Given the description of an element on the screen output the (x, y) to click on. 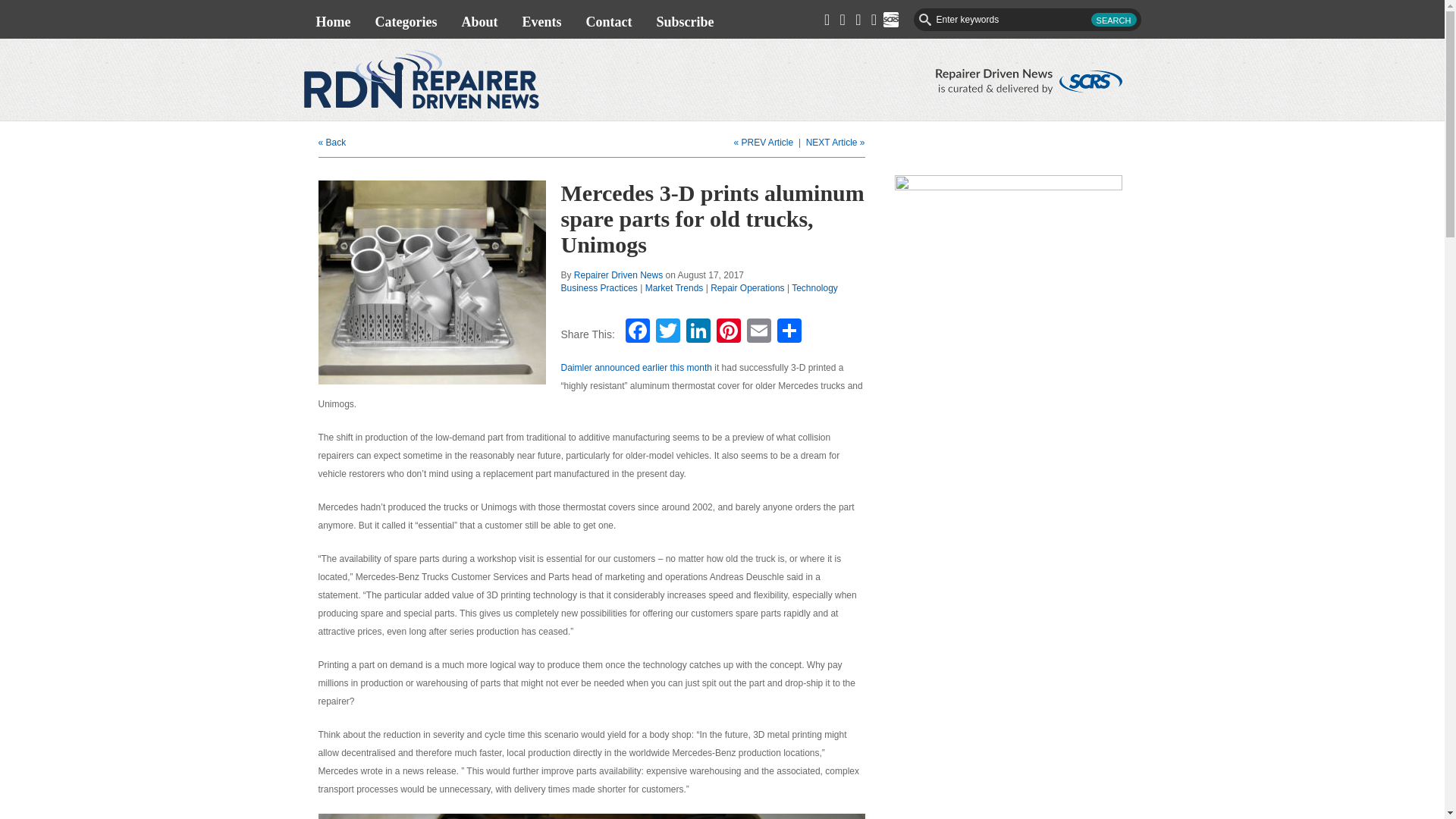
Contact (608, 21)
Twitter (667, 332)
Email (759, 332)
Events (541, 21)
Subscribe (684, 21)
Categories (405, 21)
Enter keywords (1026, 19)
Search (1112, 19)
Facebook (637, 332)
Enter keywords (1026, 19)
